Given the description of an element on the screen output the (x, y) to click on. 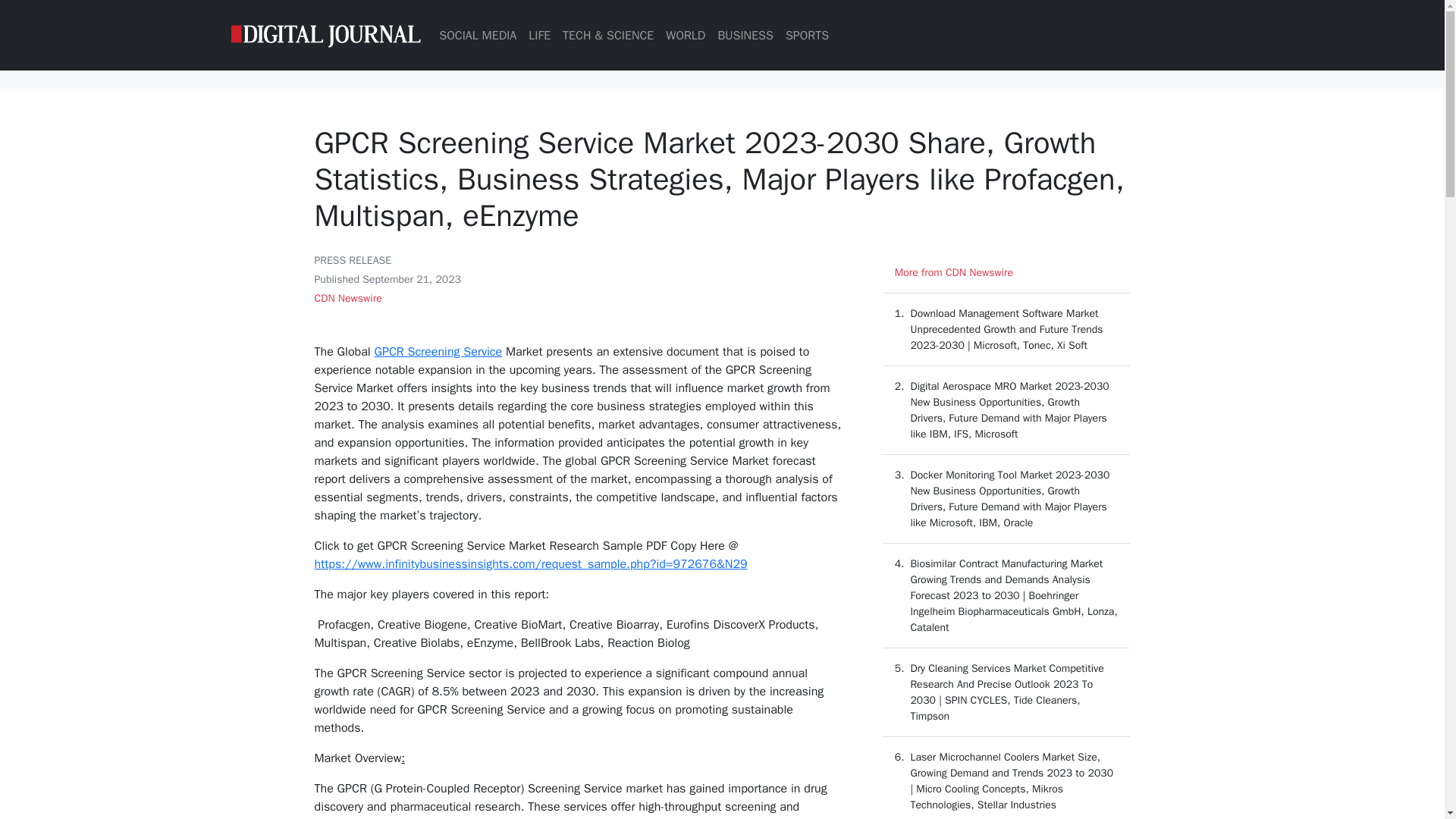
GPCR Screening Service (438, 351)
CDN Newswire (347, 297)
BUSINESS (744, 34)
SPORTS (806, 34)
SOCIAL MEDIA (477, 34)
LIFE (539, 34)
WORLD (685, 34)
